Given the description of an element on the screen output the (x, y) to click on. 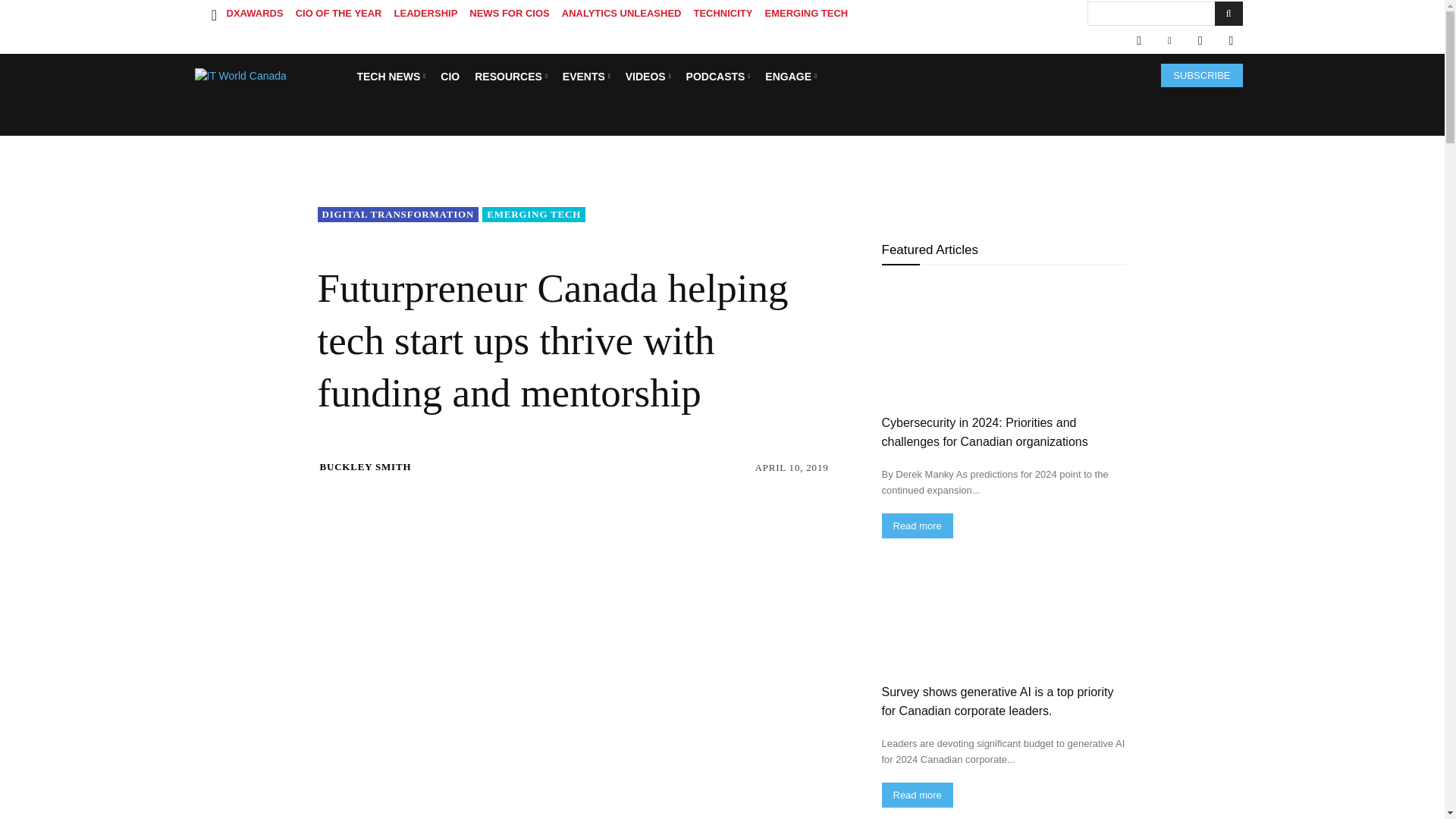
IT World Canada - IT News (269, 76)
Facebook (1138, 40)
Twitter (1200, 40)
Linkedin (1168, 40)
Youtube (1230, 40)
